Given the description of an element on the screen output the (x, y) to click on. 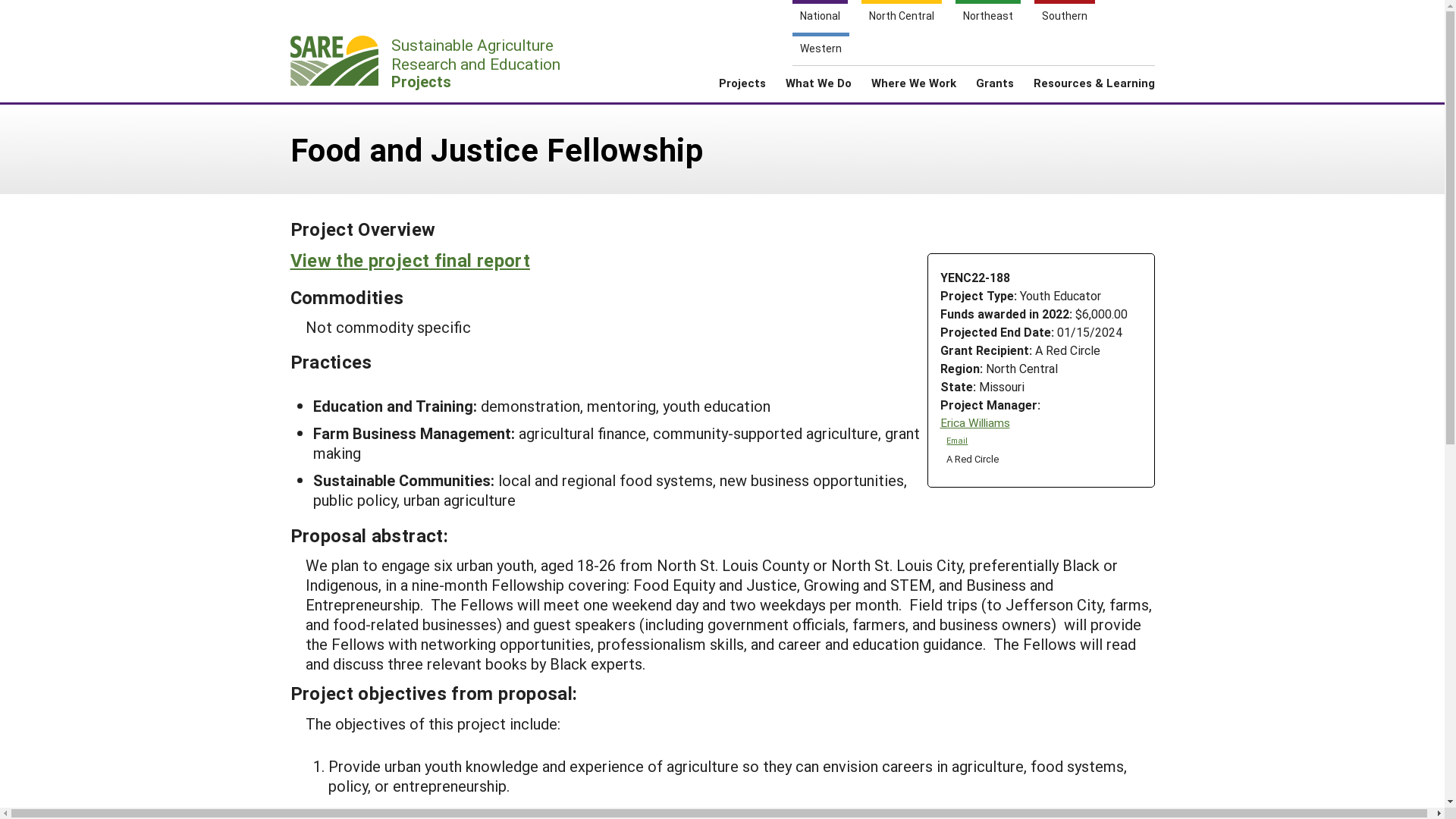
Erica Williams (975, 422)
About SARE (429, 62)
What We Do (1094, 60)
Southern (818, 88)
Projects (1063, 16)
National (742, 88)
Where We Work (819, 16)
Login (912, 88)
Northeast (995, 60)
Search (987, 16)
North Central (1146, 54)
News (901, 16)
Email (1038, 60)
Grants (957, 440)
